Given the description of an element on the screen output the (x, y) to click on. 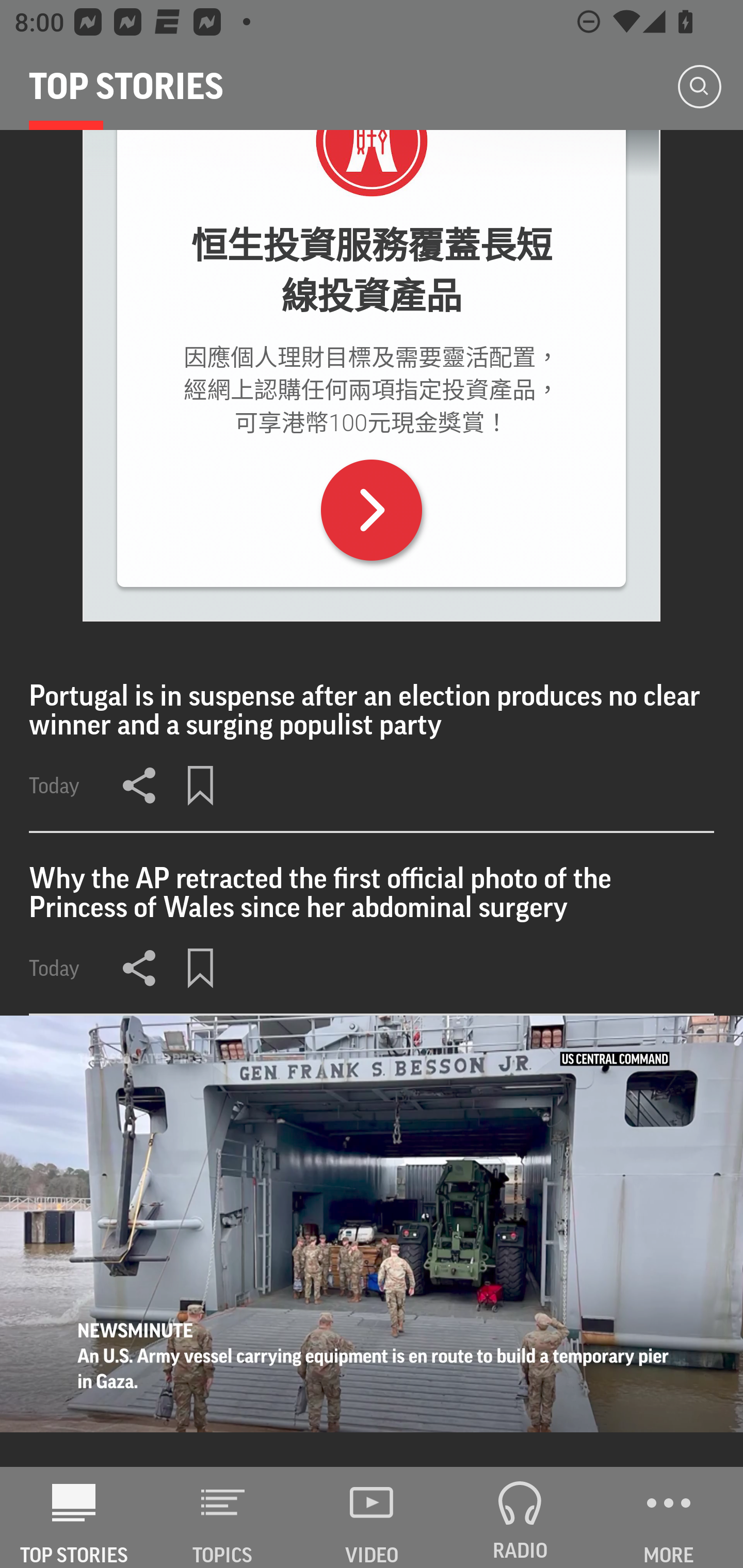
恒生投資服務覆蓋長短 線投資產品 恒生投資服務覆蓋長短 線投資產品 (371, 271)
B31268930 (371, 510)
toggle controls (371, 1241)
AP News TOP STORIES (74, 1517)
TOPICS (222, 1517)
VIDEO (371, 1517)
RADIO (519, 1517)
MORE (668, 1517)
